Given the description of an element on the screen output the (x, y) to click on. 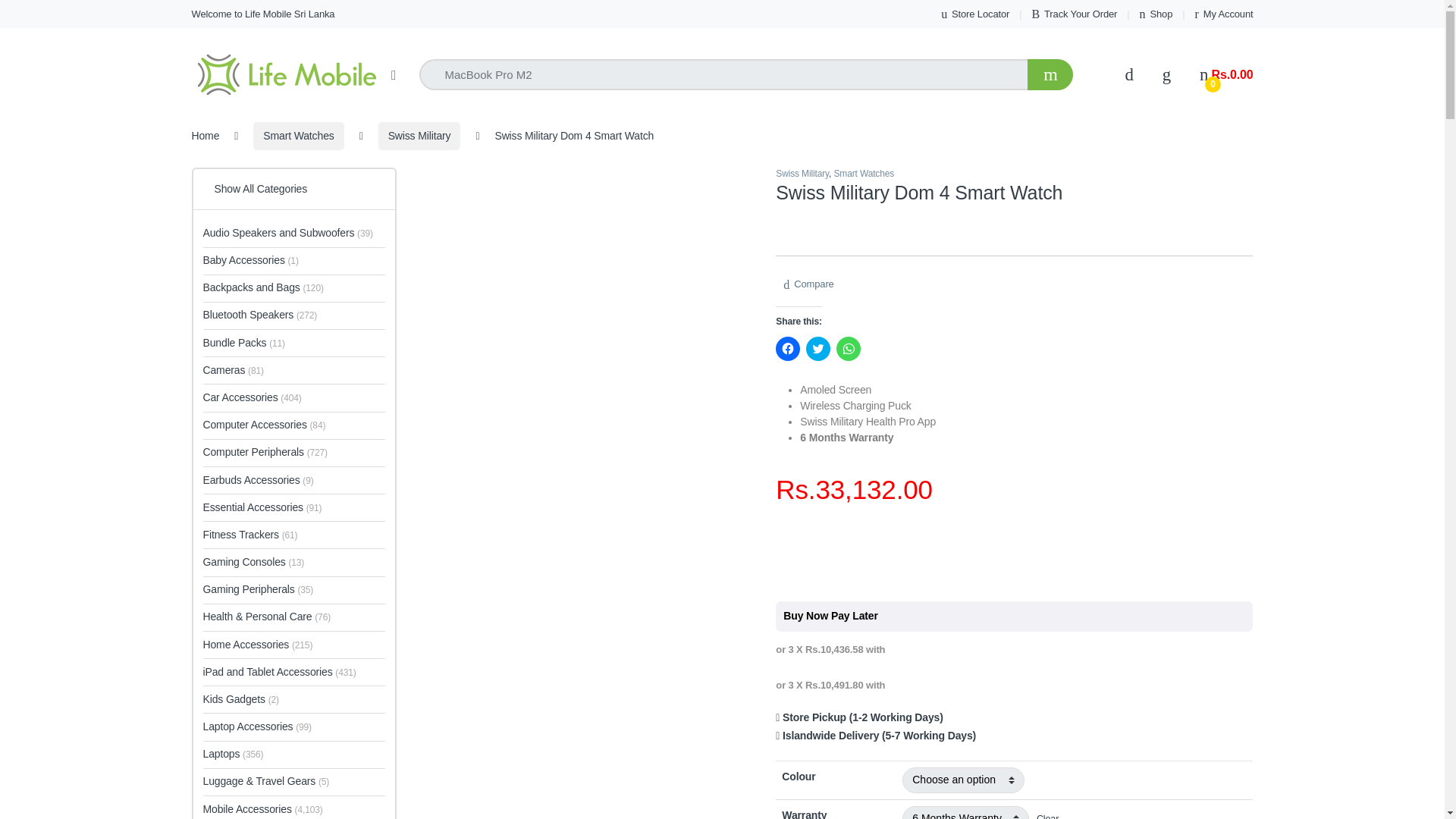
Shop (1156, 13)
My Account (1224, 13)
Welcome to Life Mobile Sri Lanka (262, 13)
Welcome to Life Mobile Sri Lanka (262, 13)
Track Your Order (1073, 13)
Store Locator (974, 13)
Store Locator (974, 13)
Shop (1156, 13)
Track Your Order (1073, 13)
My Account (1224, 13)
